Given the description of an element on the screen output the (x, y) to click on. 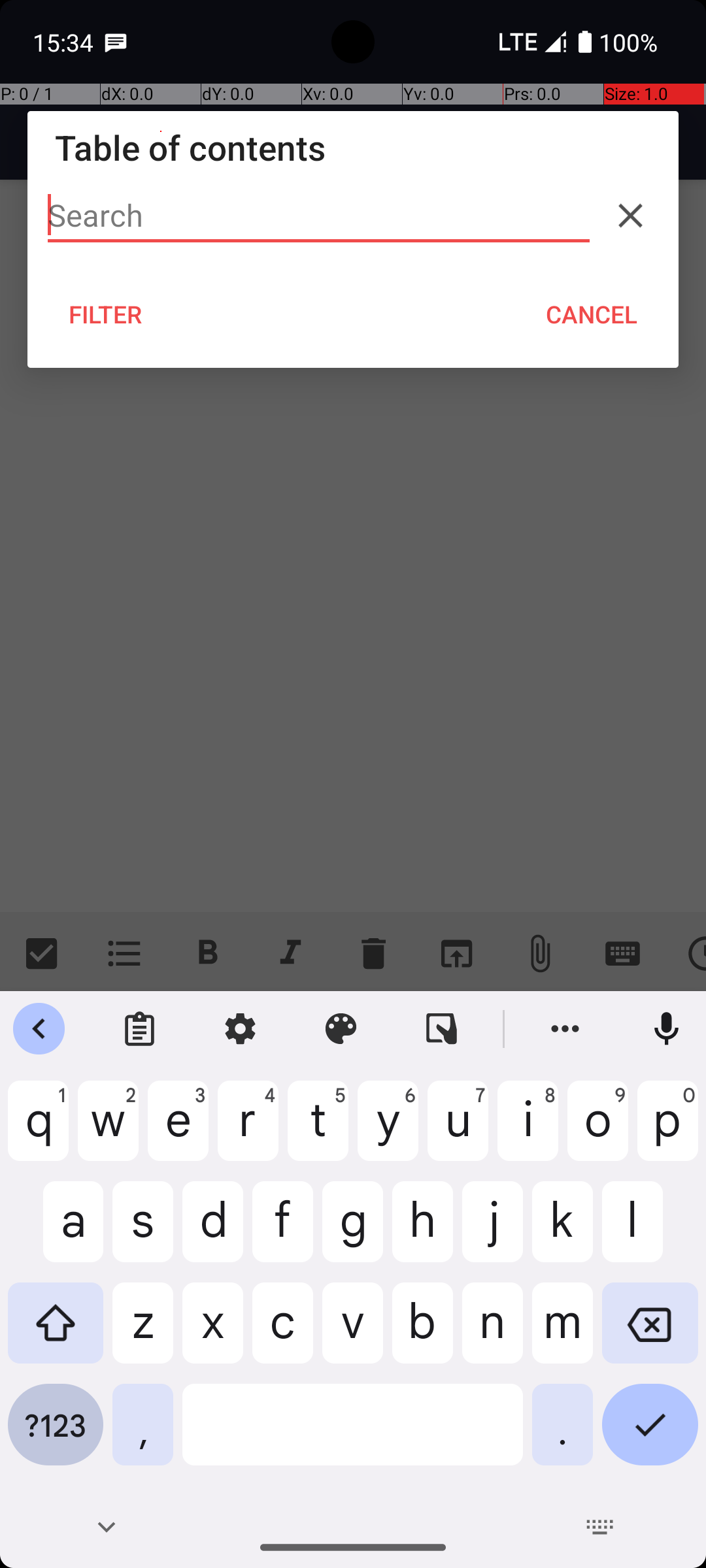
FILTER Element type: android.widget.Button (105, 313)
